Given the description of an element on the screen output the (x, y) to click on. 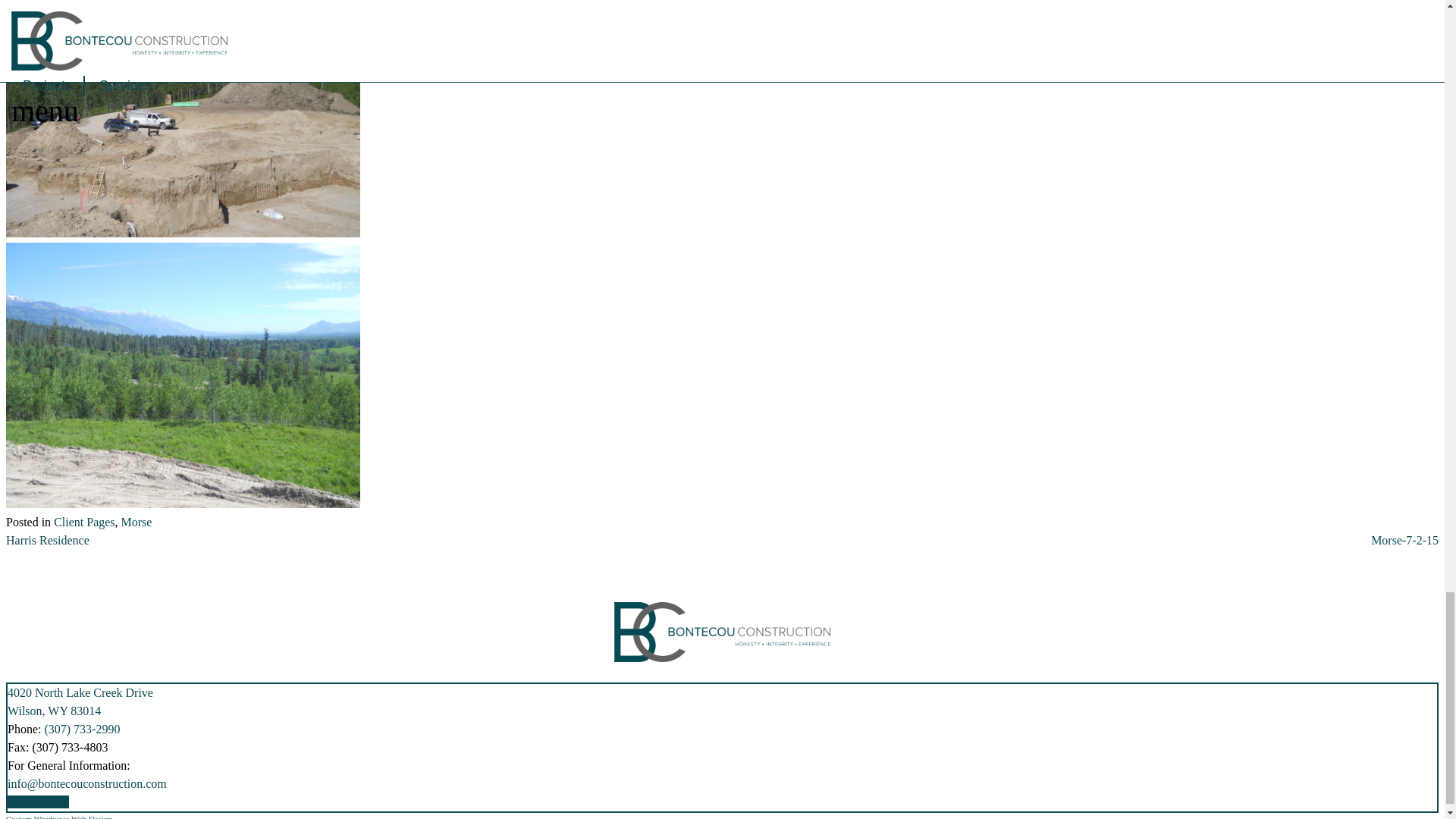
Client Pages (84, 521)
Morse (136, 521)
Client Portal (37, 801)
Harris Residence (79, 701)
